Given the description of an element on the screen output the (x, y) to click on. 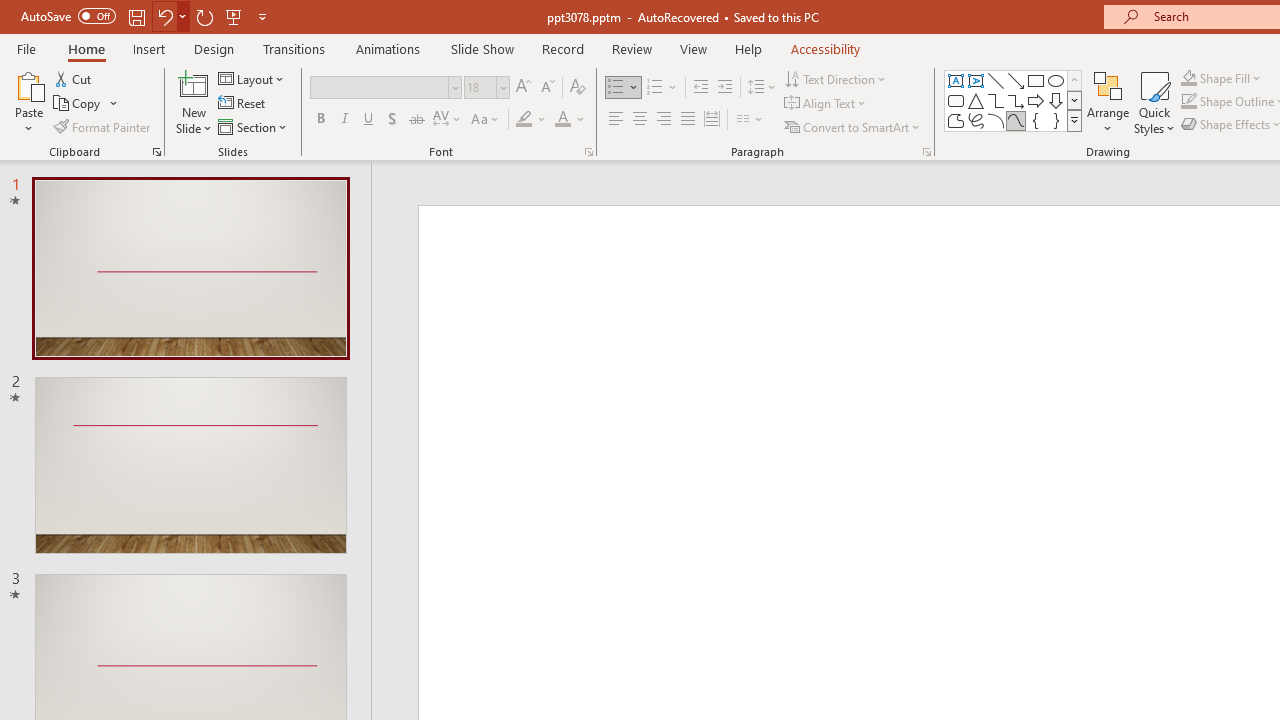
Shape Outline Green, Accent 1 (1188, 101)
